Given the description of an element on the screen output the (x, y) to click on. 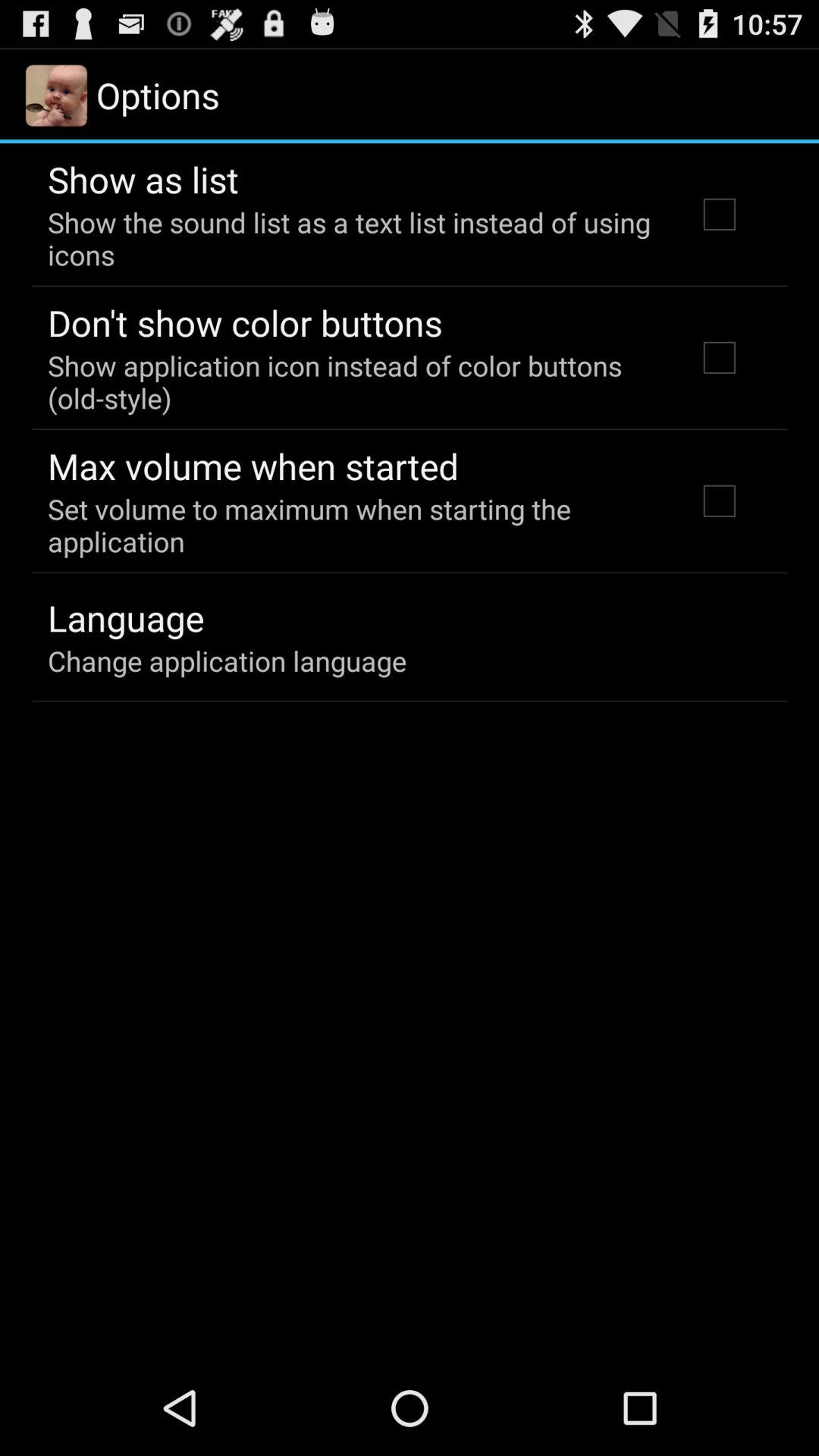
turn on icon above the language app (351, 525)
